Given the description of an element on the screen output the (x, y) to click on. 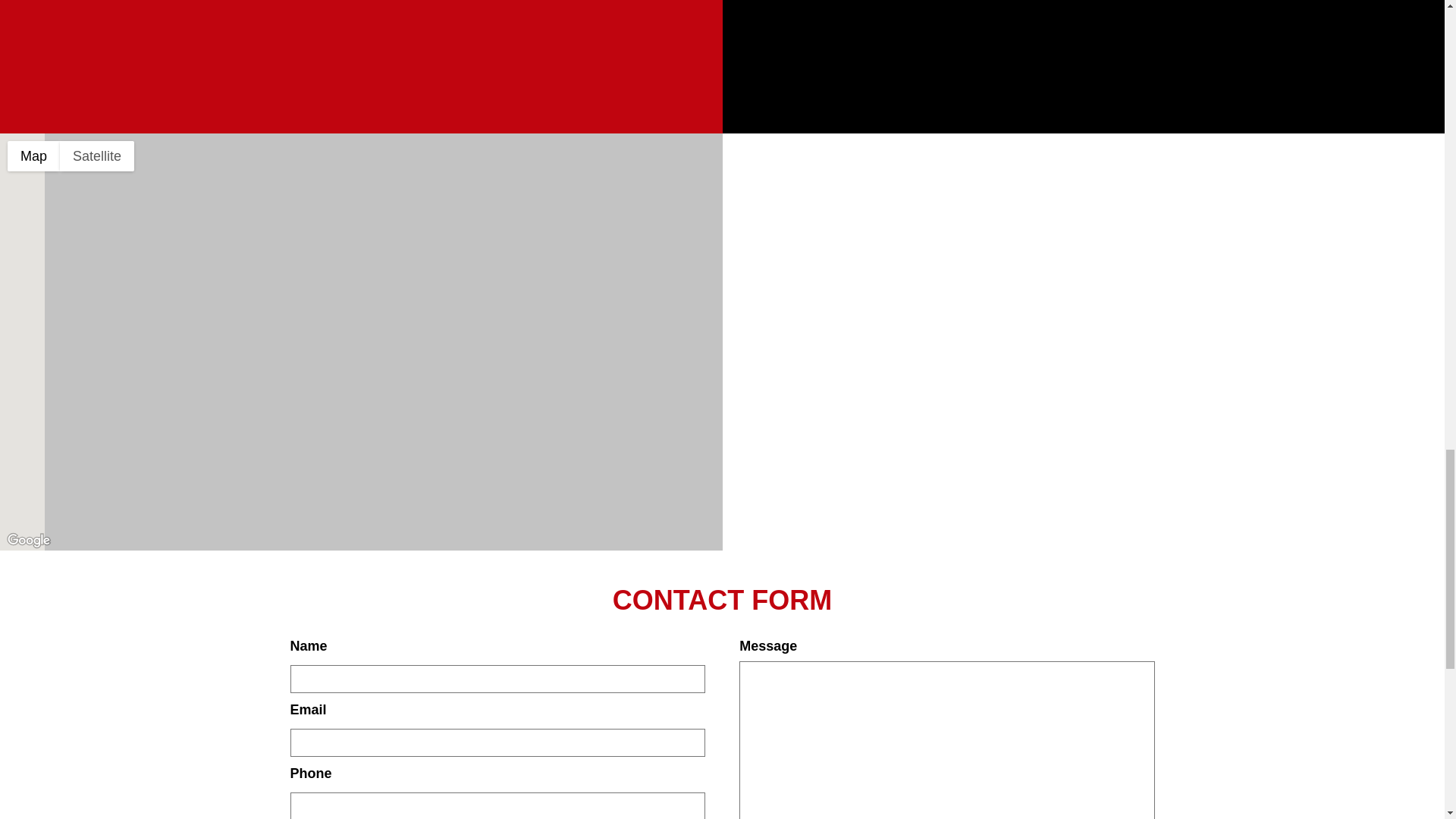
Show street map (33, 155)
Show satellite imagery (96, 155)
